Given the description of an element on the screen output the (x, y) to click on. 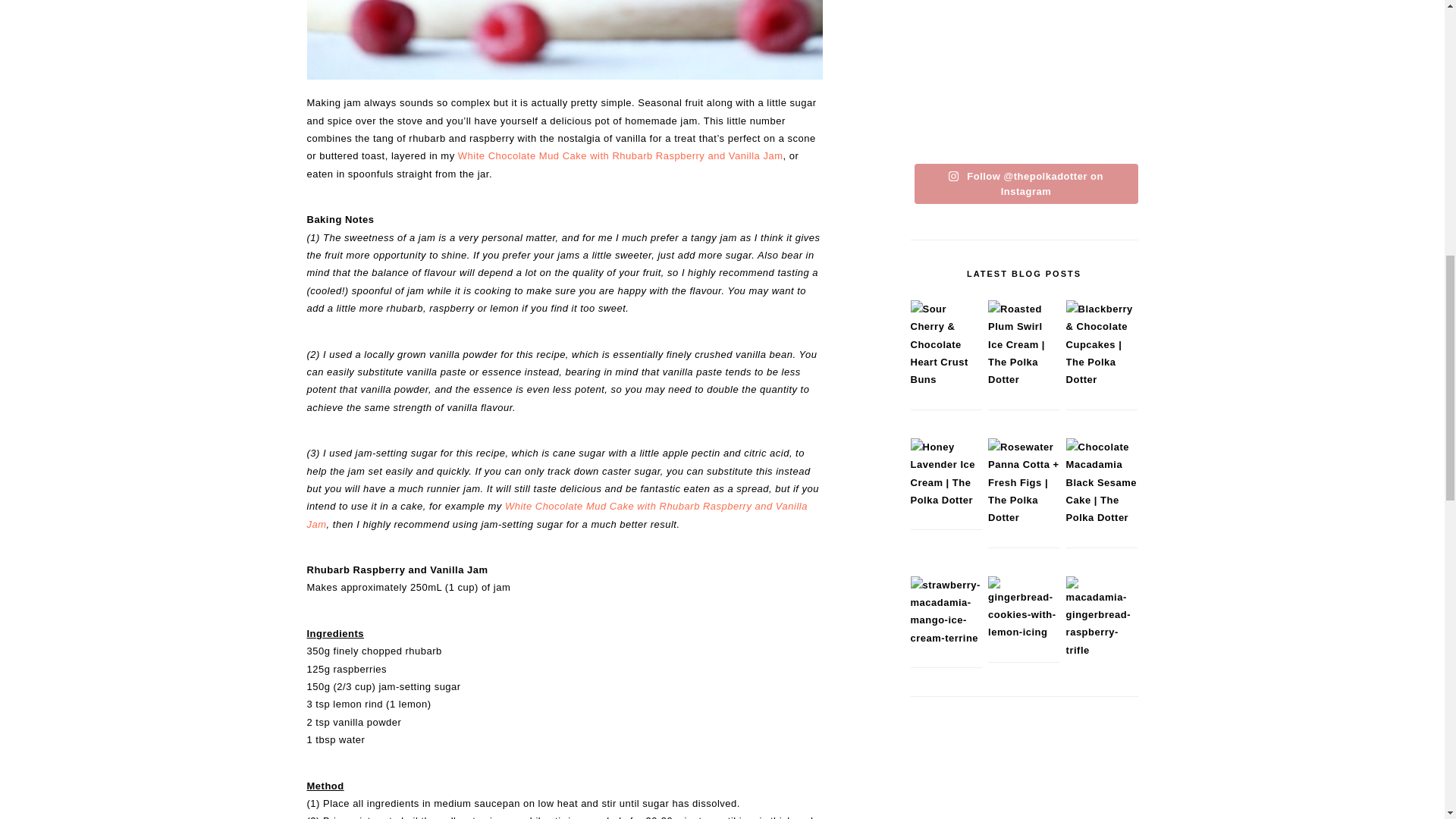
Roasted Plum Swirl Ice Cream (1023, 378)
Honey Lavender Ice Cream (945, 500)
